Given the description of an element on the screen output the (x, y) to click on. 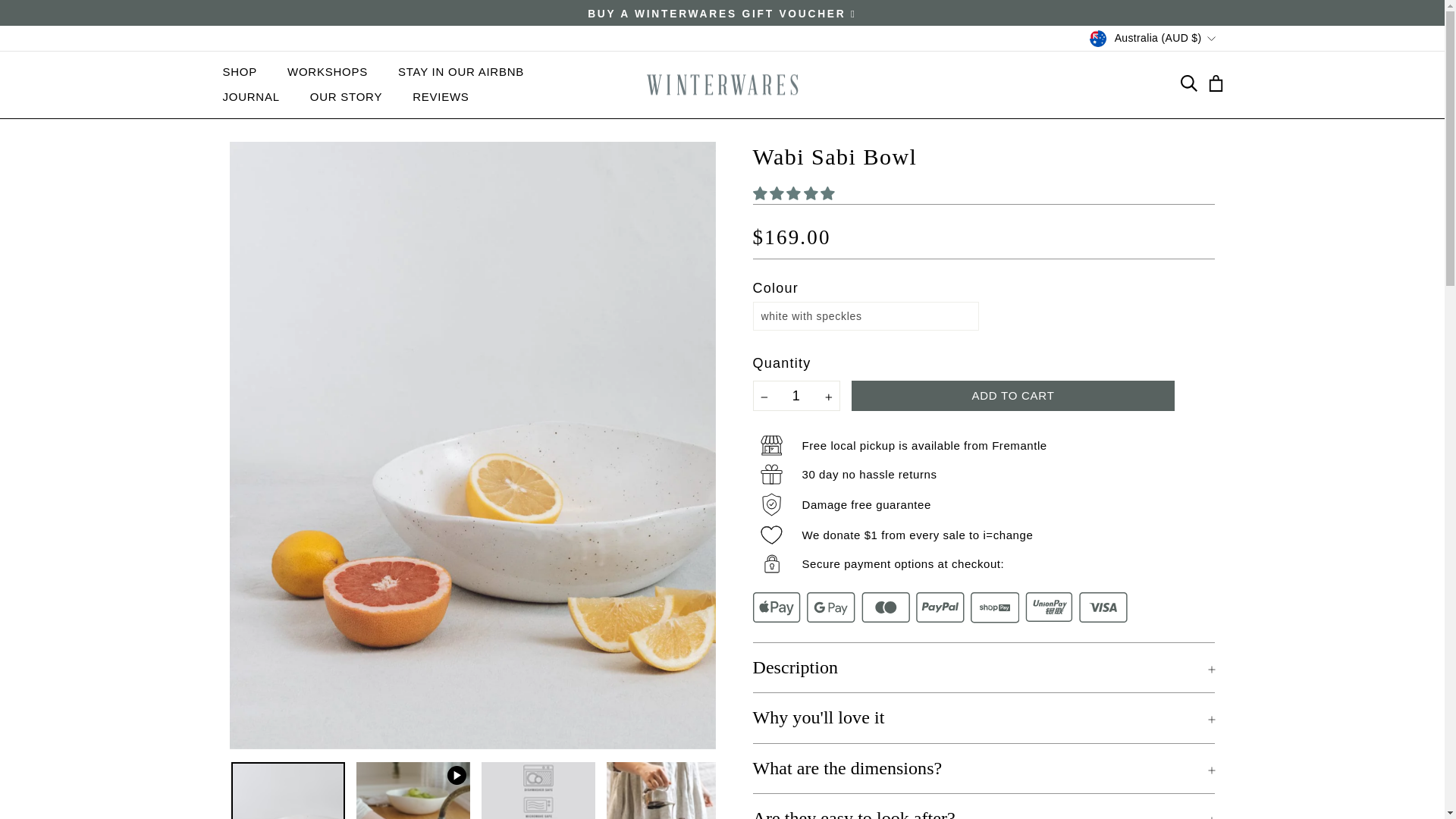
1 (796, 395)
